Given the description of an element on the screen output the (x, y) to click on. 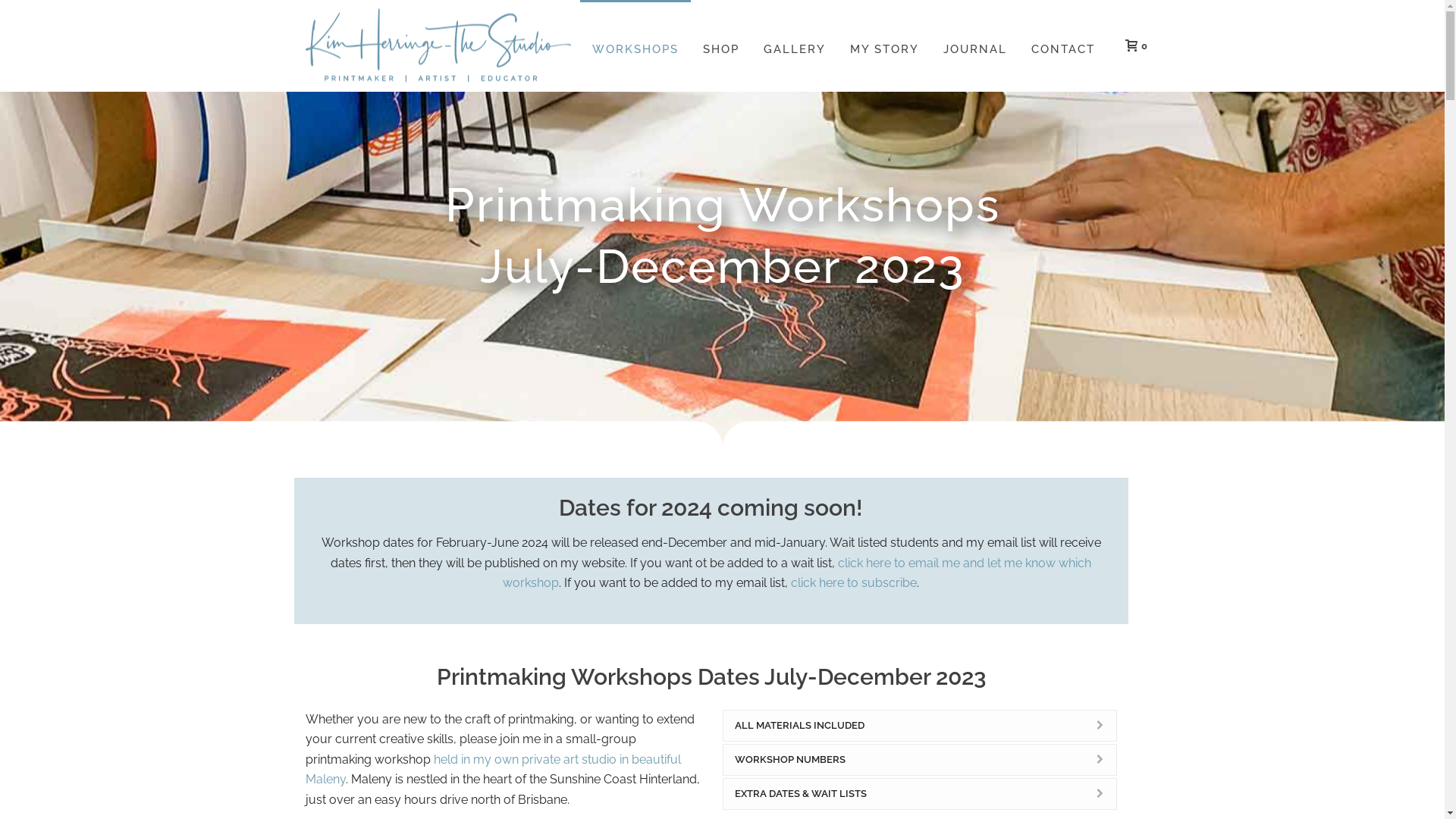
CONTACT Element type: text (1063, 45)
WORKSHOPS Element type: text (634, 45)
Printmaker, Designer Element type: hover (437, 45)
0 Element type: text (1132, 44)
click here to email me and let me know which workshop Element type: text (796, 572)
GALLERY Element type: text (793, 45)
held in my own private art studio in beautiful Maleny Element type: text (492, 769)
JOURNAL Element type: text (975, 45)
MY STORY Element type: text (883, 45)
click here to subscribe Element type: text (853, 582)
SHOP Element type: text (720, 45)
